Given the description of an element on the screen output the (x, y) to click on. 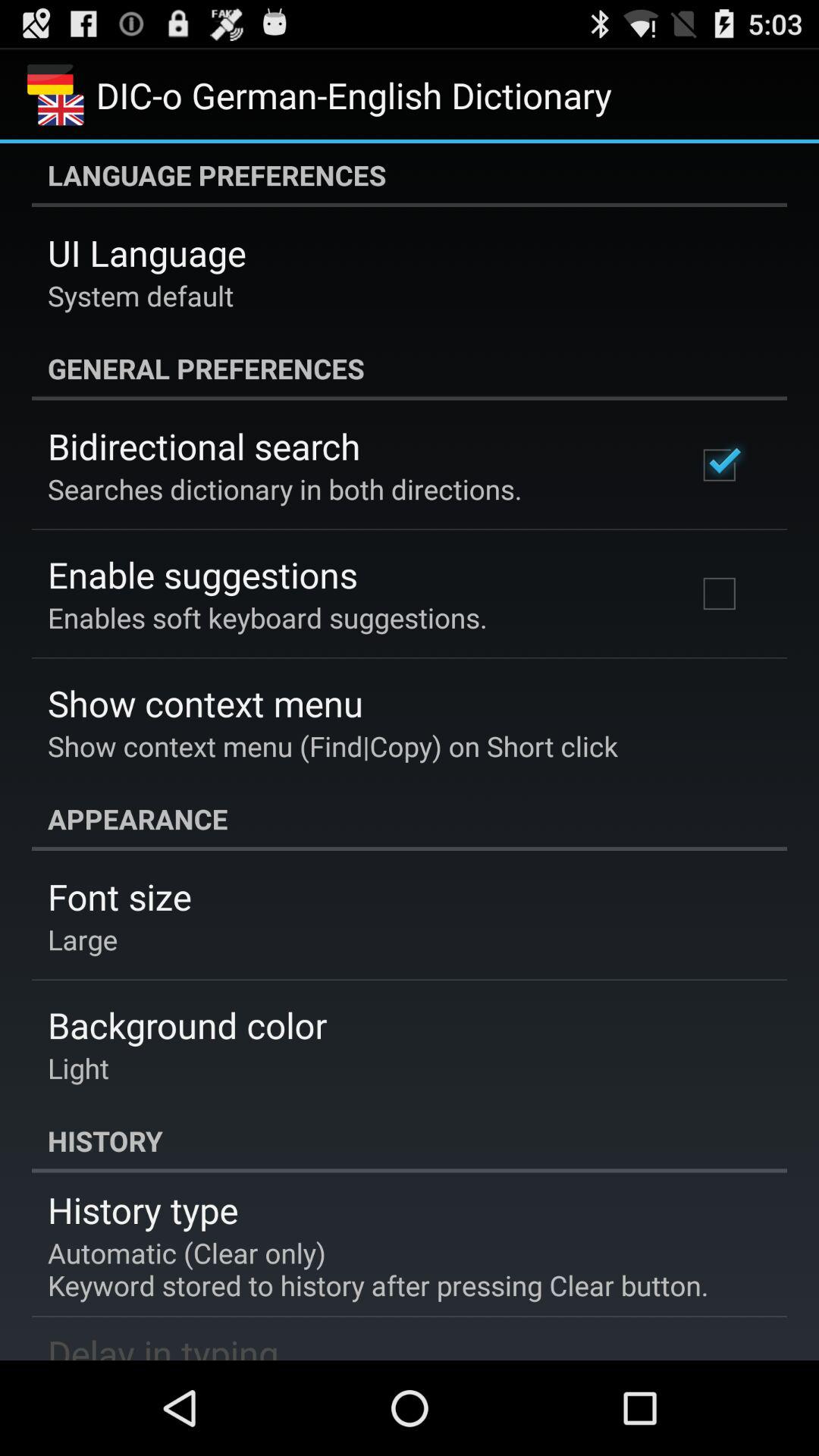
choose item above delay in typing app (377, 1269)
